Given the description of an element on the screen output the (x, y) to click on. 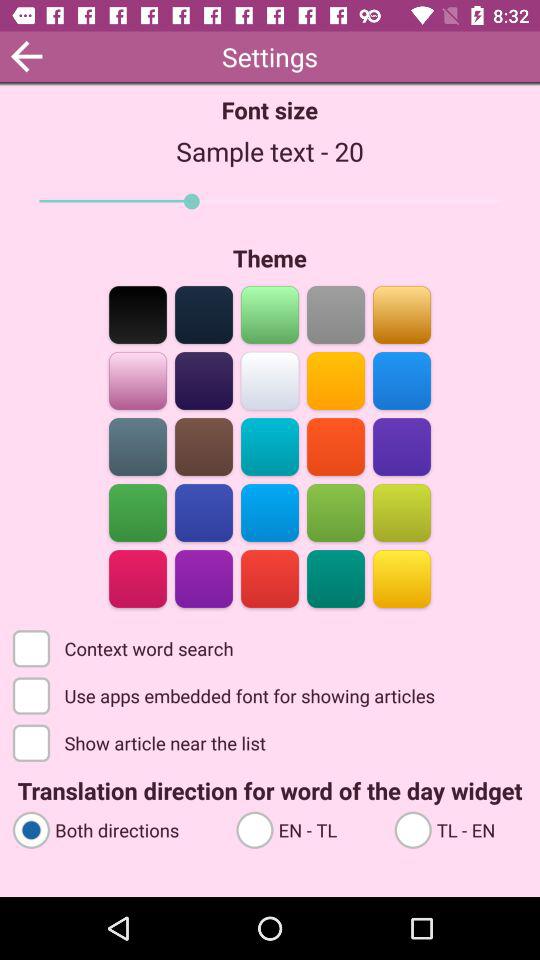
select the color purple for the font (203, 577)
